Given the description of an element on the screen output the (x, y) to click on. 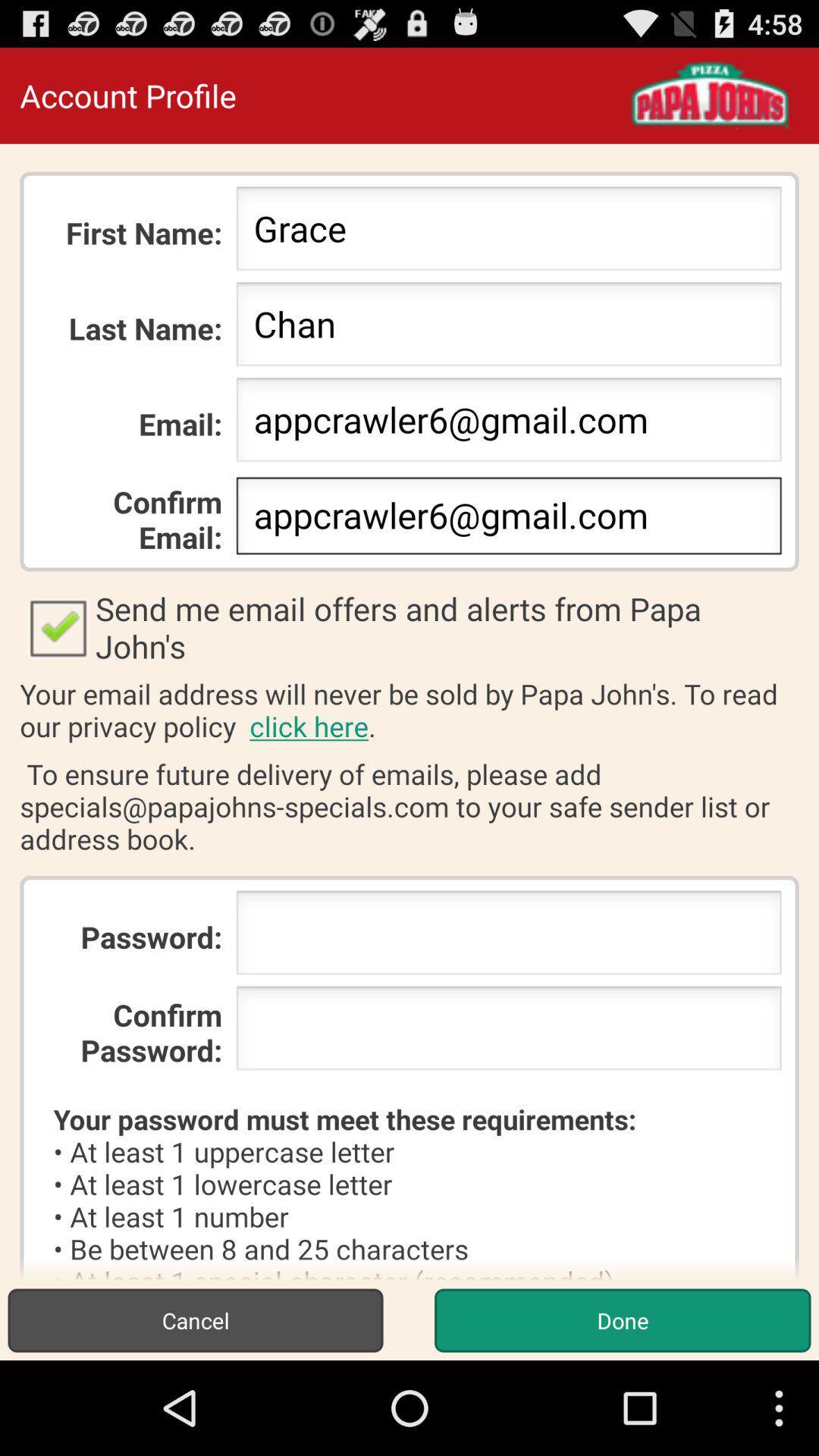
enter password to confirm (508, 1032)
